Given the description of an element on the screen output the (x, y) to click on. 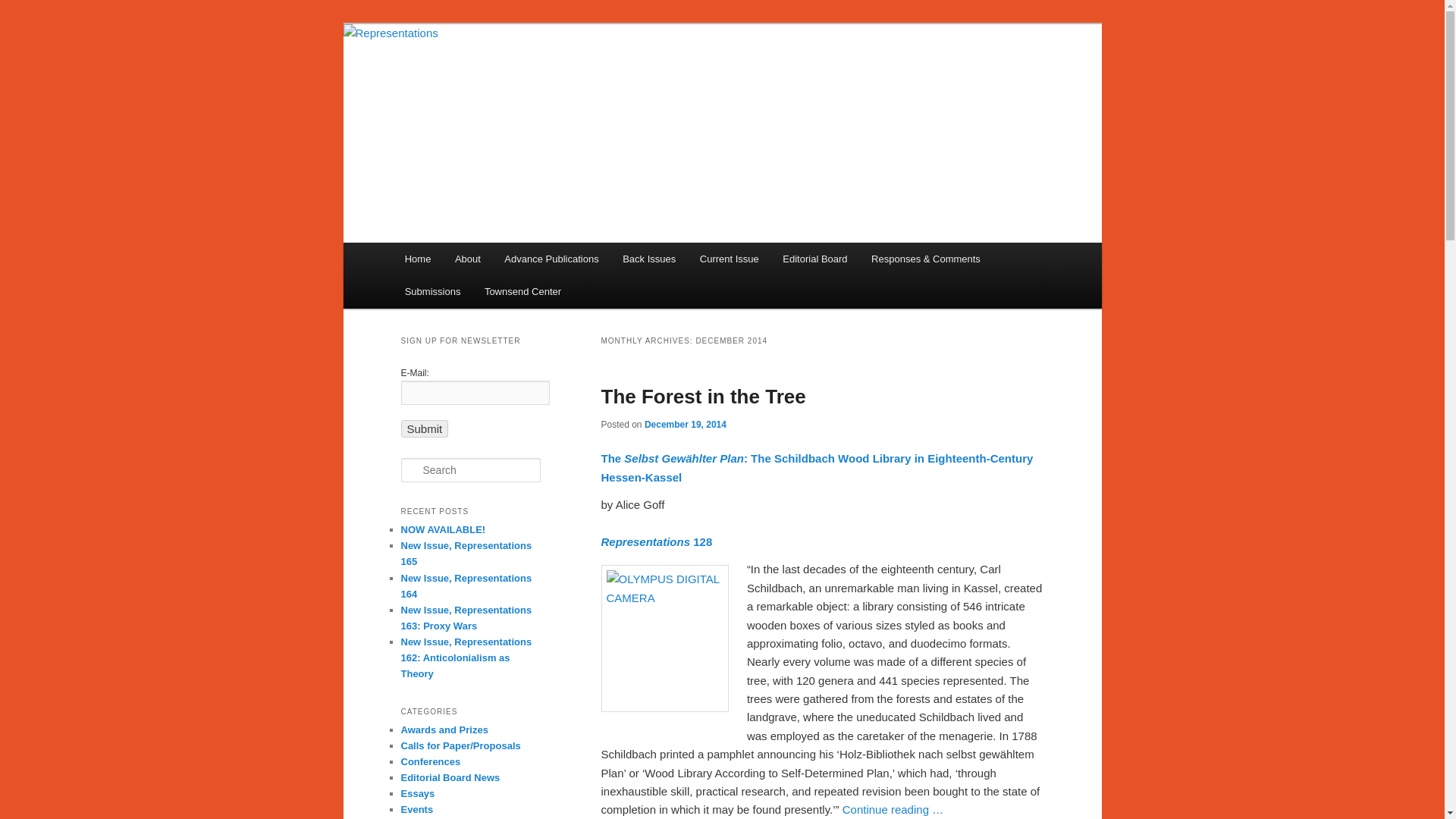
Home (417, 258)
Back Issues (648, 258)
Current Issue (729, 258)
Representations (489, 78)
December 19, 2014 (685, 424)
About (467, 258)
Representations 128 (655, 541)
Submit (424, 428)
1:07 am (685, 424)
